Given the description of an element on the screen output the (x, y) to click on. 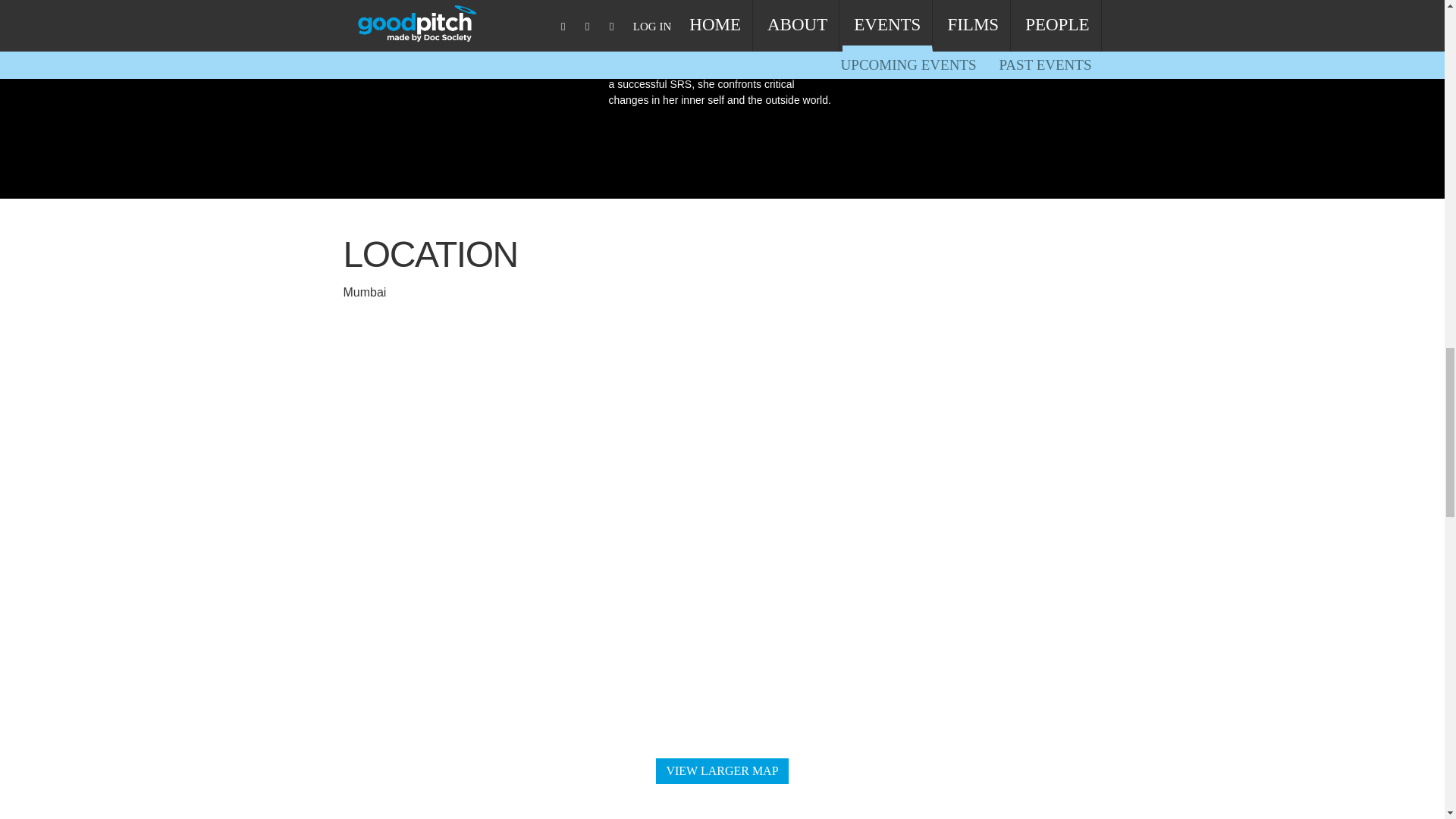
VIEW LARGER MAP (721, 770)
